Given the description of an element on the screen output the (x, y) to click on. 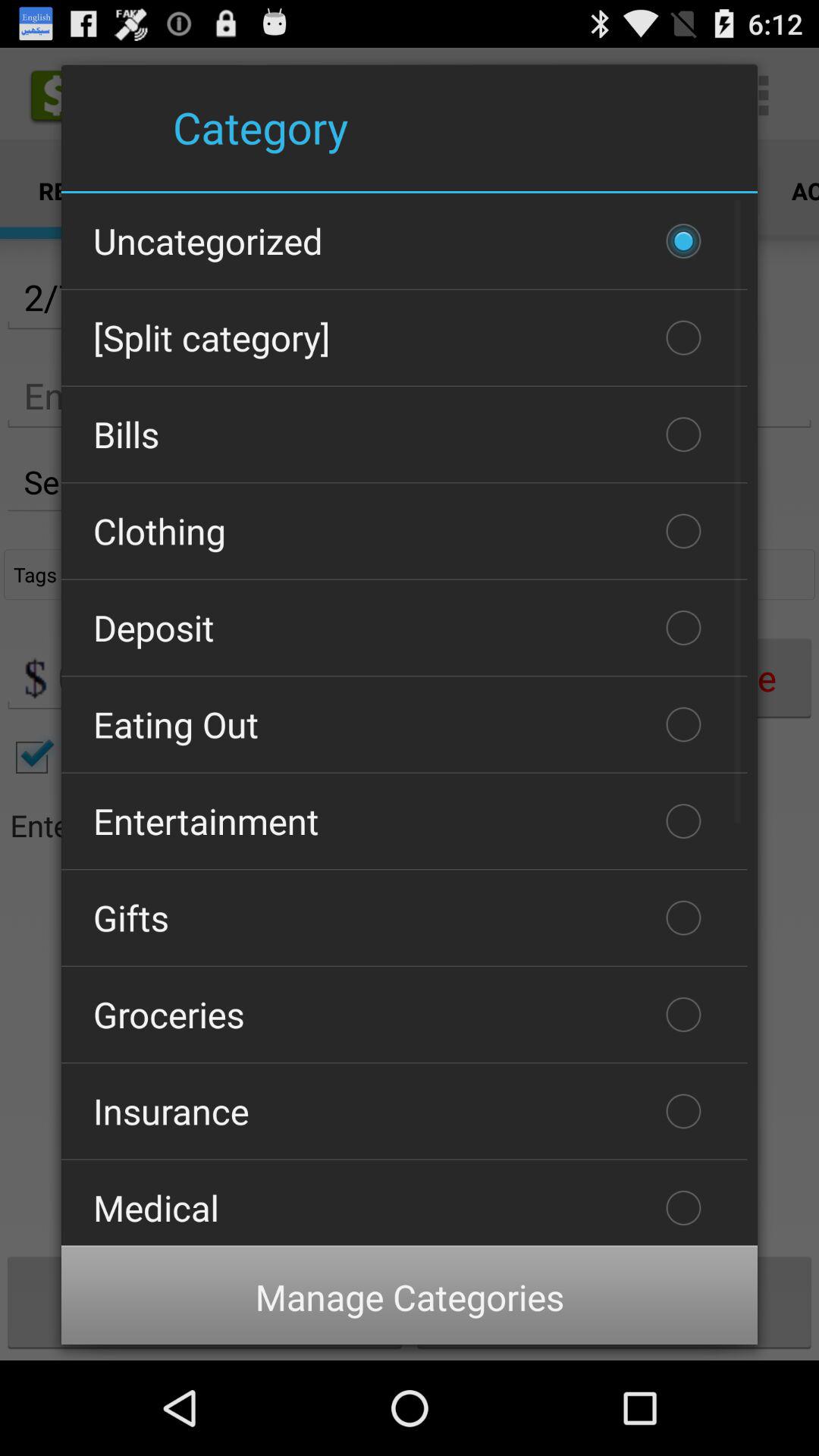
launch the item below the insurance icon (404, 1202)
